Given the description of an element on the screen output the (x, y) to click on. 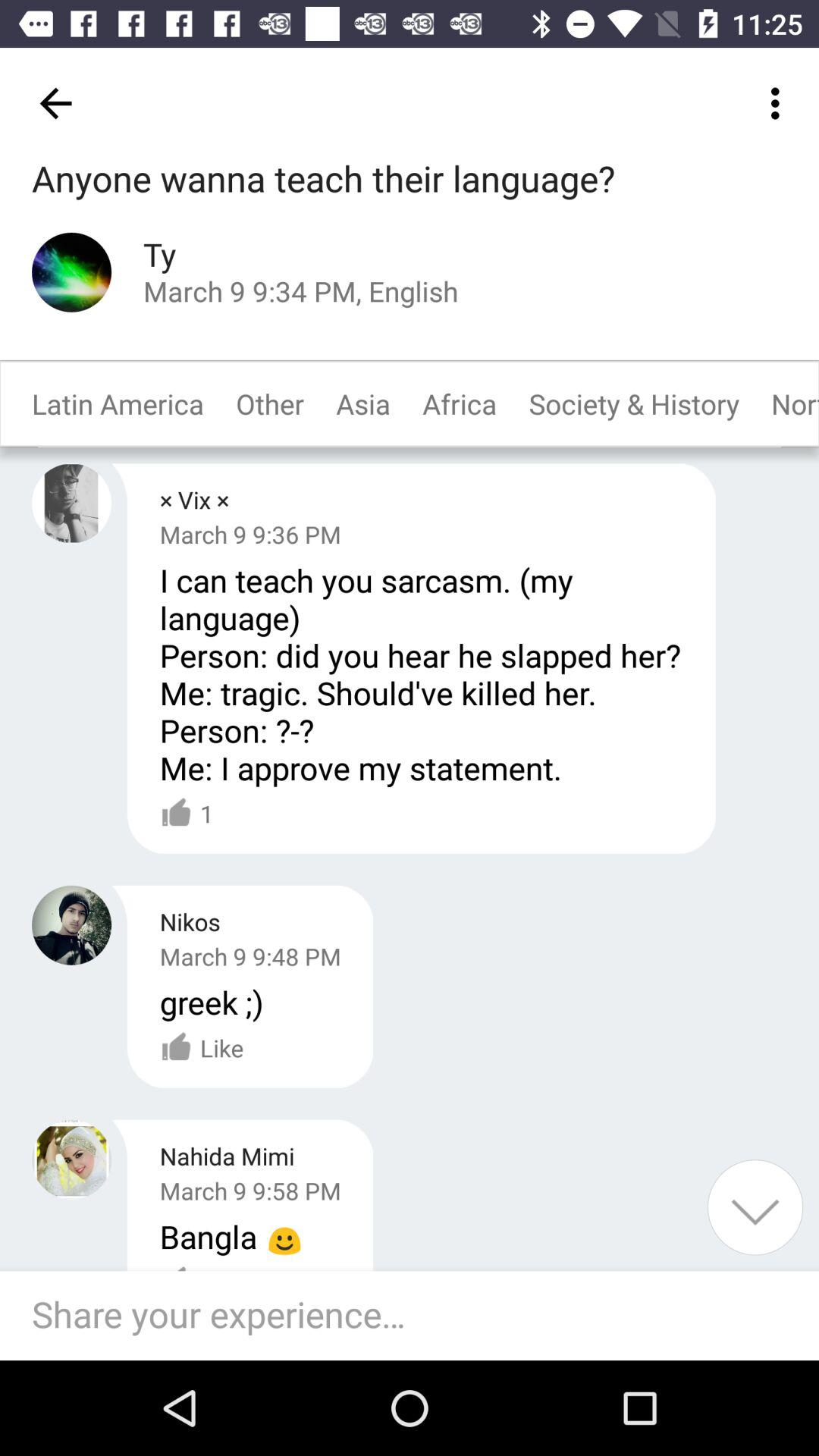
add your experience (755, 1207)
